Given the description of an element on the screen output the (x, y) to click on. 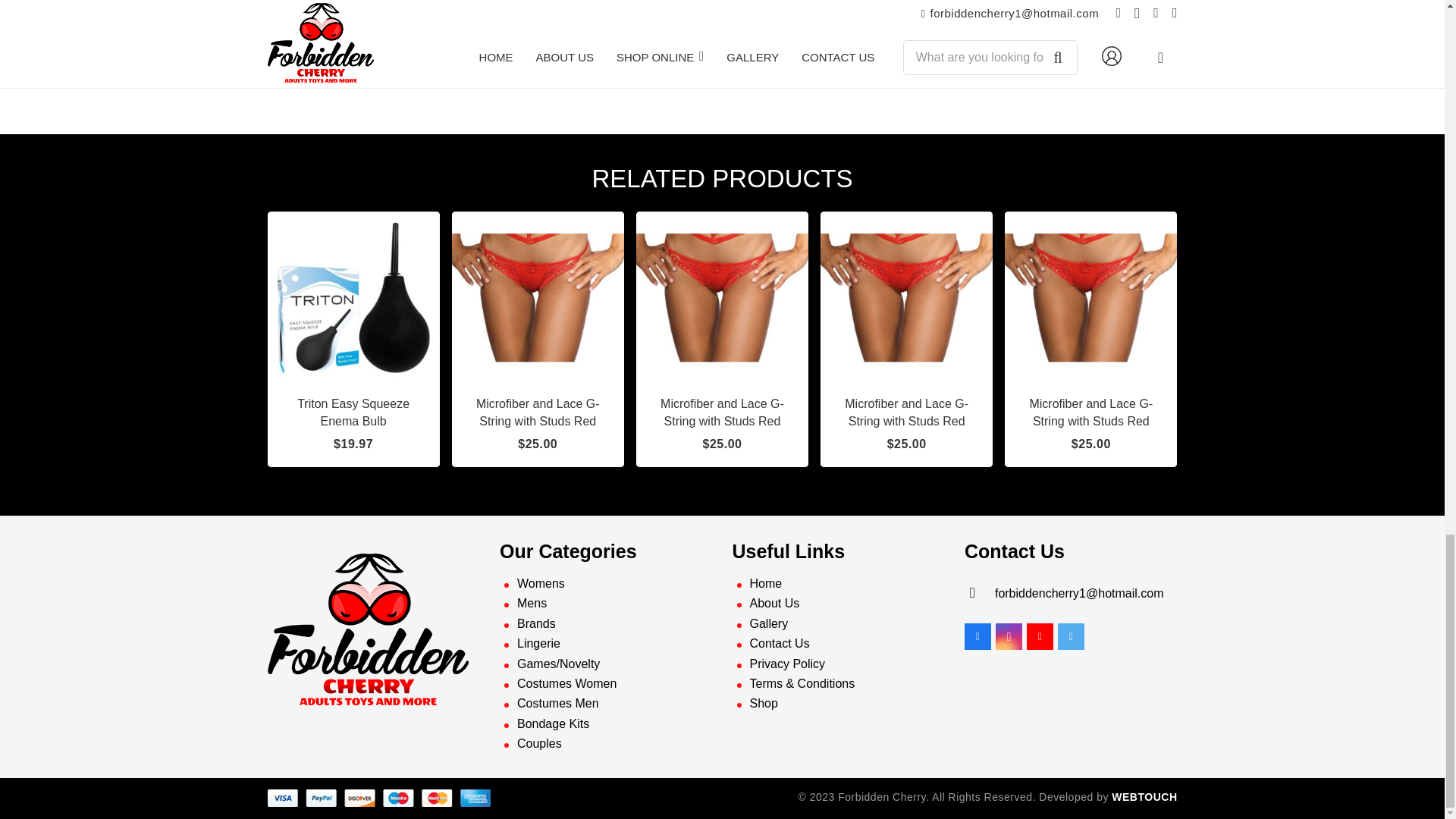
Twitter (1071, 636)
Instagram (1008, 636)
YouTube (1039, 636)
Facebook (977, 636)
